Given the description of an element on the screen output the (x, y) to click on. 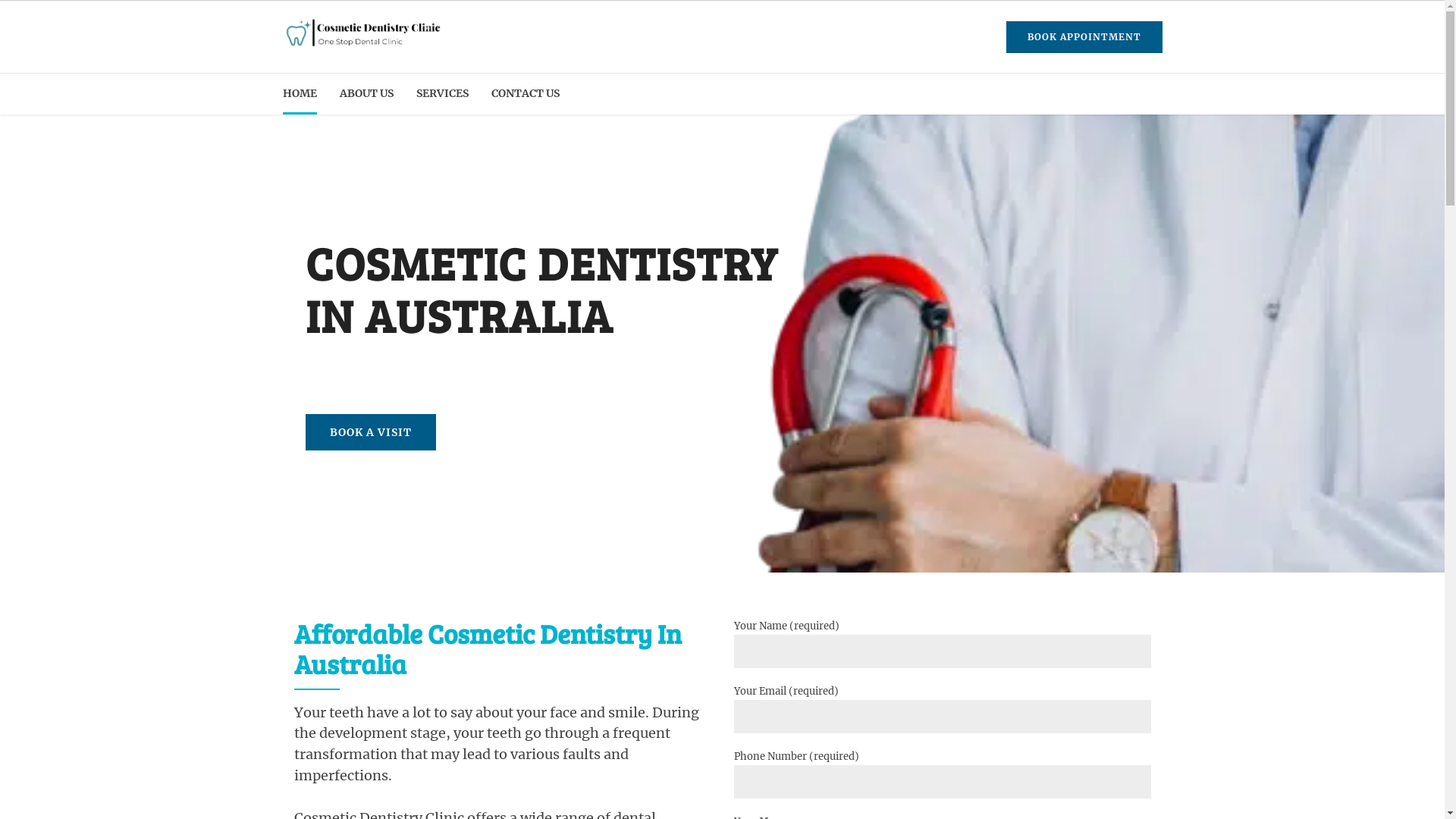
BOOK A VISIT Element type: text (369, 432)
BOOK APPOINTMENT Element type: text (1083, 37)
ABOUT US Element type: text (366, 93)
SERVICES Element type: text (441, 93)
CONTACT US Element type: text (525, 93)
HOME Element type: text (299, 93)
